Given the description of an element on the screen output the (x, y) to click on. 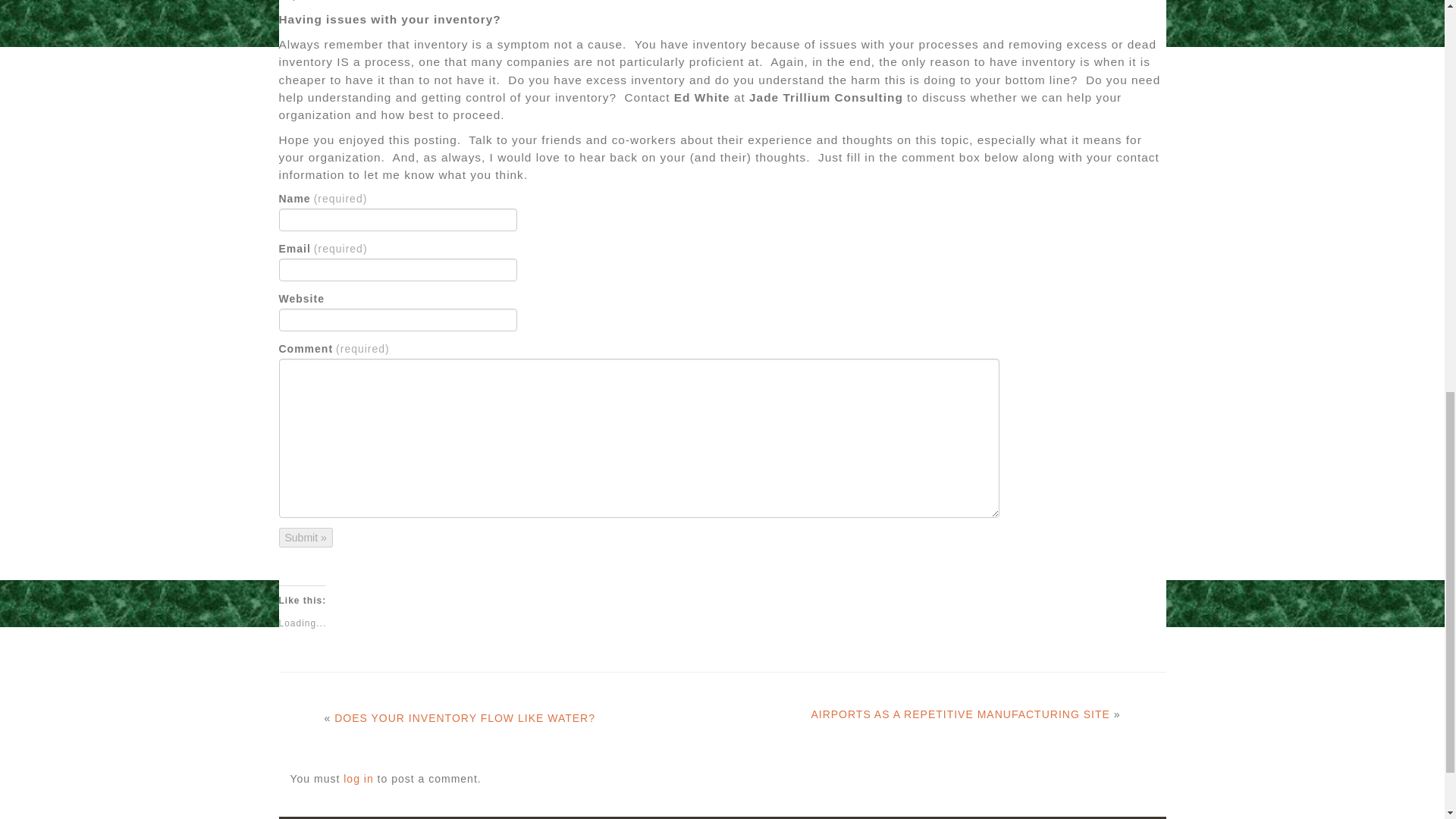
log in (357, 778)
DOES YOUR INVENTORY FLOW LIKE WATER? (464, 717)
AIRPORTS AS A REPETITIVE MANUFACTURING SITE (959, 714)
